Given the description of an element on the screen output the (x, y) to click on. 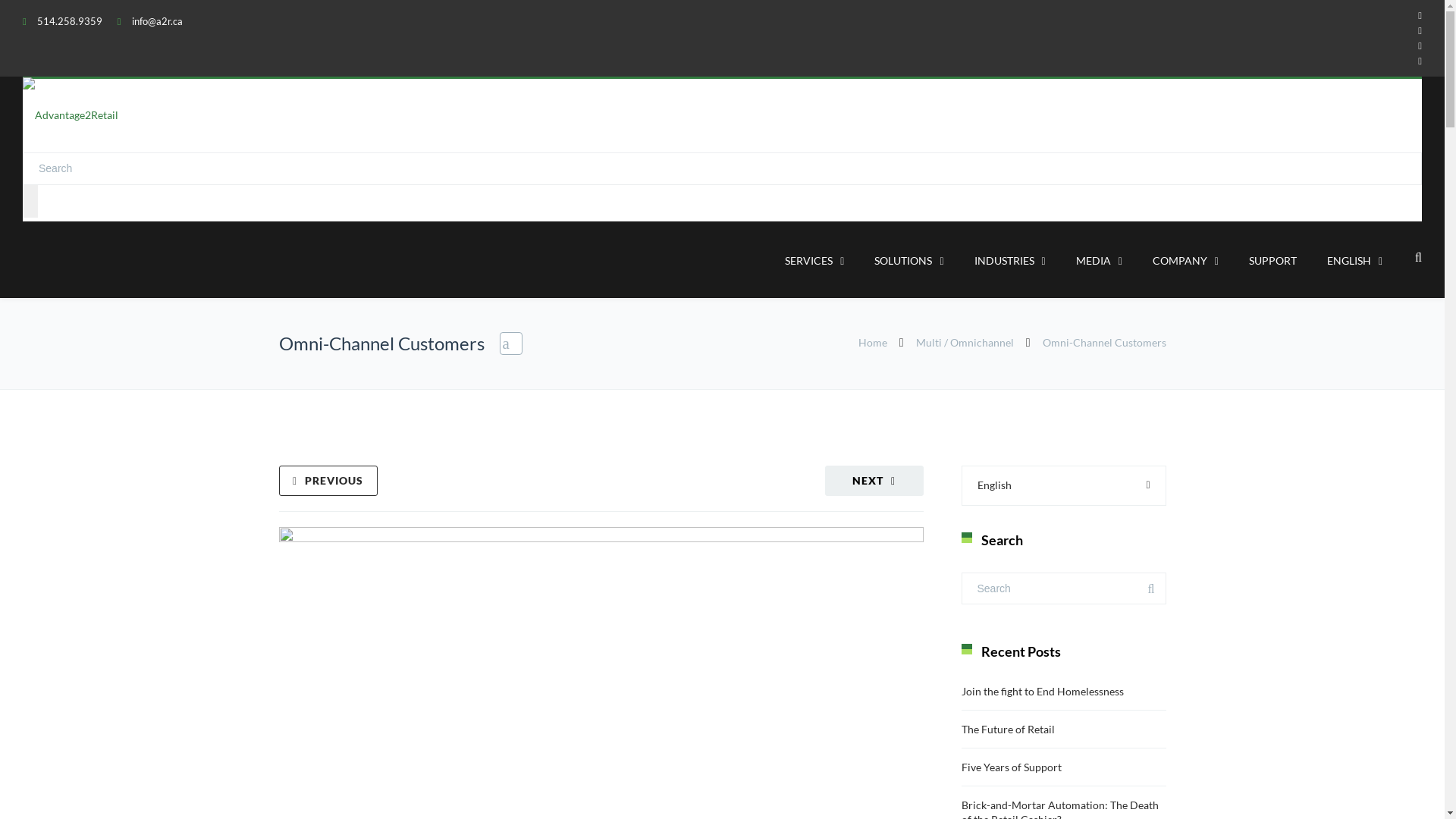
NEXT Element type: text (874, 480)
info@a2r.ca Element type: text (156, 21)
MEDIA Element type: text (1098, 261)
SUPPORT Element type: text (1272, 261)
ENGLISH Element type: text (1354, 261)
SERVICES Element type: text (814, 261)
English Element type: text (1063, 485)
PREVIOUS Element type: text (328, 480)
Advantage2Retail Element type: hover (70, 115)
SOLUTIONS Element type: text (908, 261)
Multi / Omnichannel Element type: text (964, 341)
The Future of Retail Element type: text (1007, 728)
INDUSTRIES Element type: text (1009, 261)
Five Years of Support Element type: text (1011, 766)
Join the fight to End Homelessness Element type: text (1042, 690)
514.258.9359 Element type: text (69, 21)
Home Element type: text (872, 341)
COMPANY Element type: text (1185, 261)
